Given the description of an element on the screen output the (x, y) to click on. 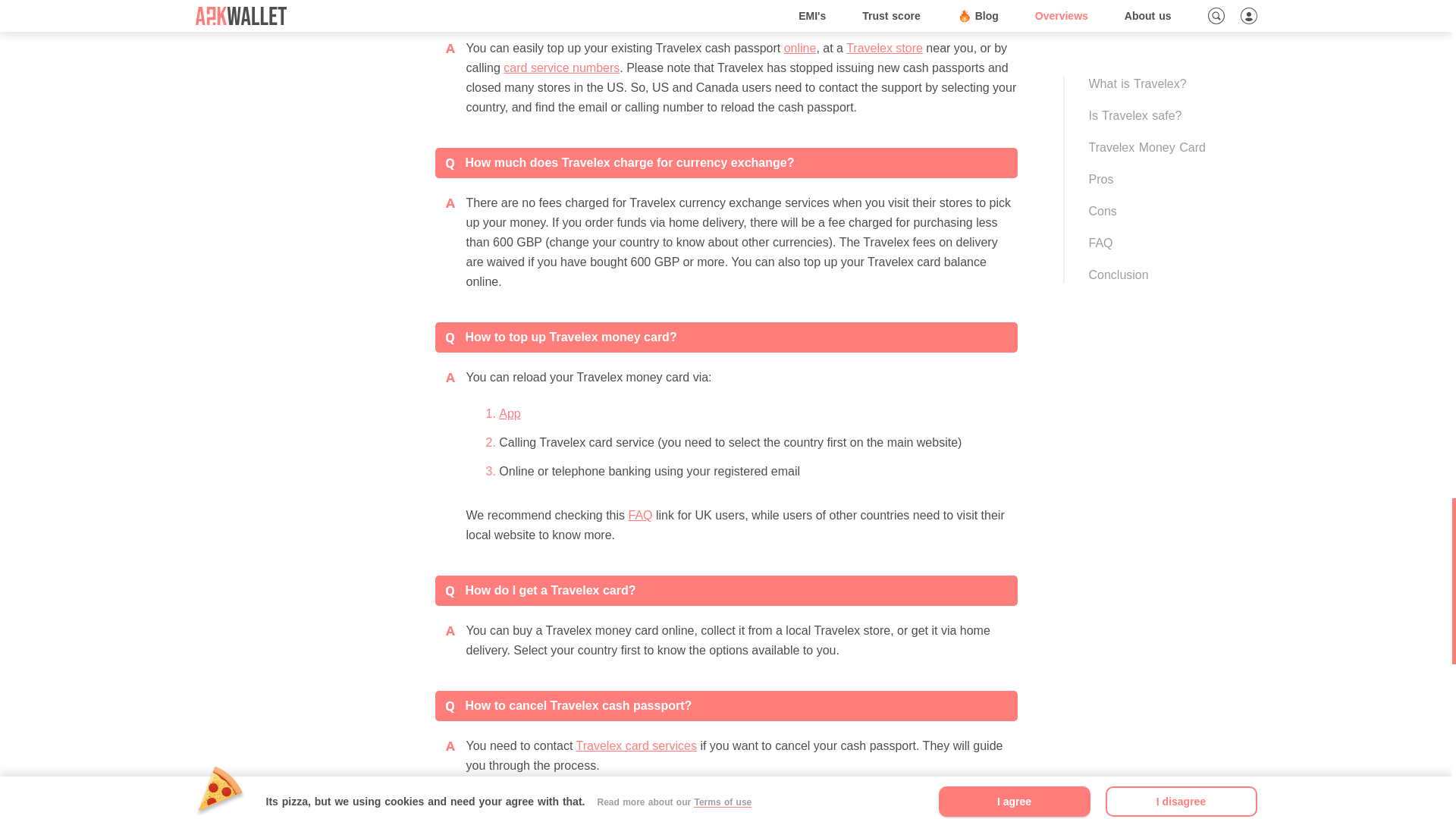
Travelex card services (636, 745)
App (509, 413)
Travelex store (884, 47)
online (800, 47)
FAQ (640, 514)
card service numbers (561, 67)
